Given the description of an element on the screen output the (x, y) to click on. 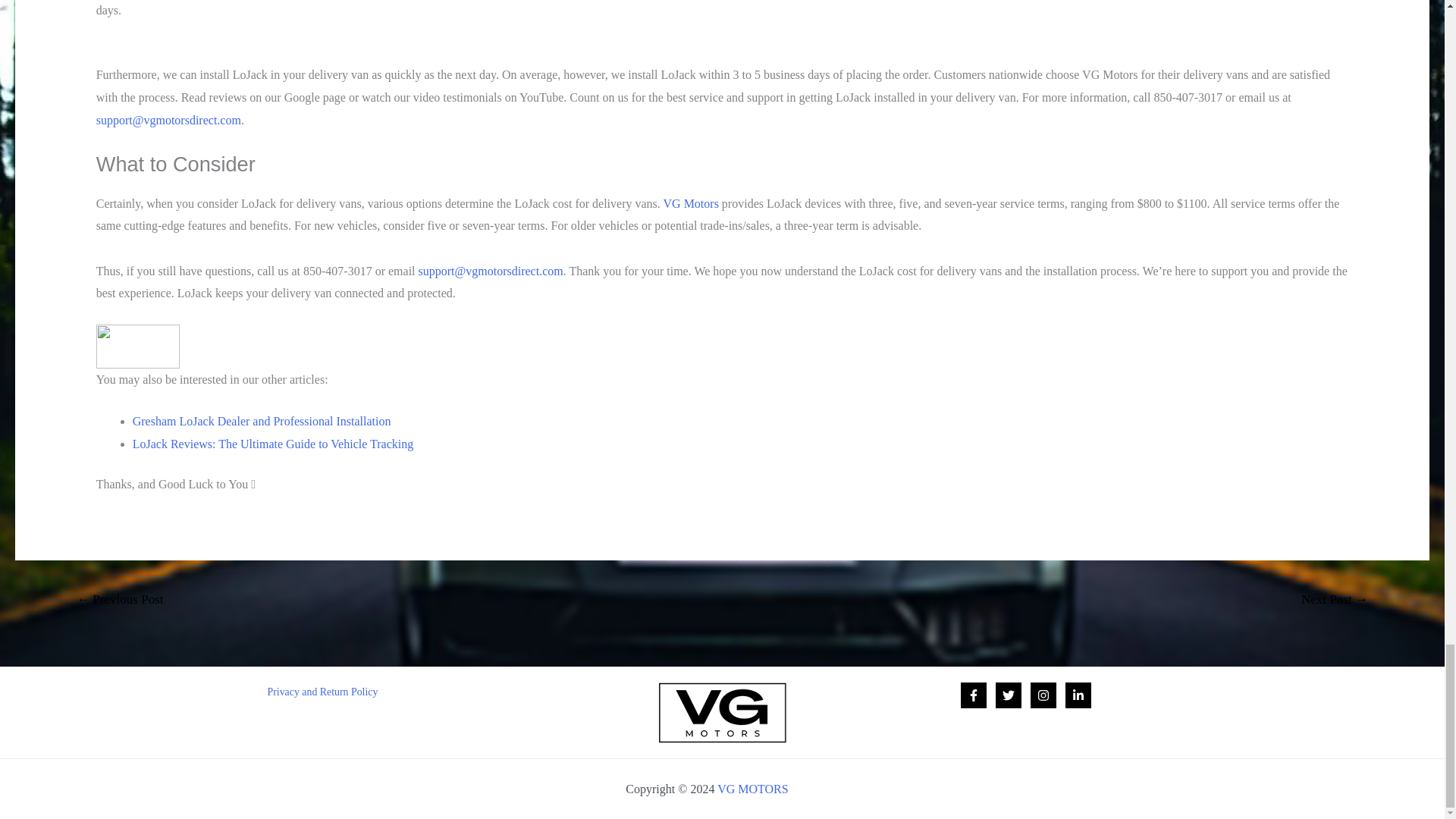
VG Motors (691, 203)
Gresham LoJack Dealer and Professional Installation (261, 420)
LoJack Reviews: The Ultimate Guide to Vehicle Tracking (272, 443)
